Given the description of an element on the screen output the (x, y) to click on. 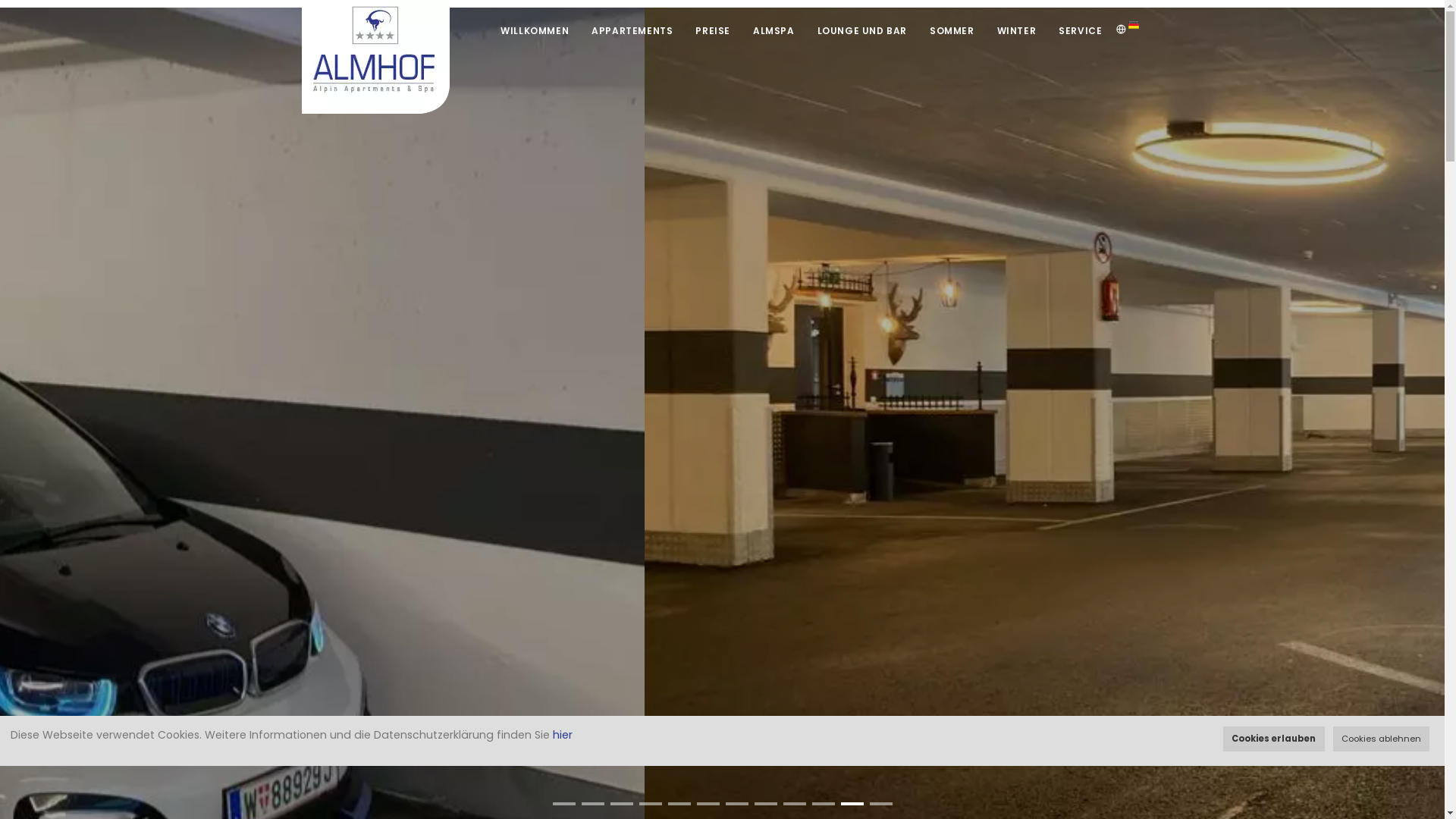
WILLKOMMEN Element type: text (534, 30)
hier Element type: text (562, 734)
ALMSPA Element type: text (773, 30)
WINTER Element type: text (1016, 30)
SERVICE Element type: text (1079, 30)
SOMMER Element type: text (951, 30)
LOUNGE UND BAR Element type: text (862, 30)
Cookies ablehnen Element type: text (1381, 738)
APPARTEMENTS Element type: text (631, 30)
Cookies erlauben Element type: text (1273, 738)
PREISE Element type: text (712, 30)
